Given the description of an element on the screen output the (x, y) to click on. 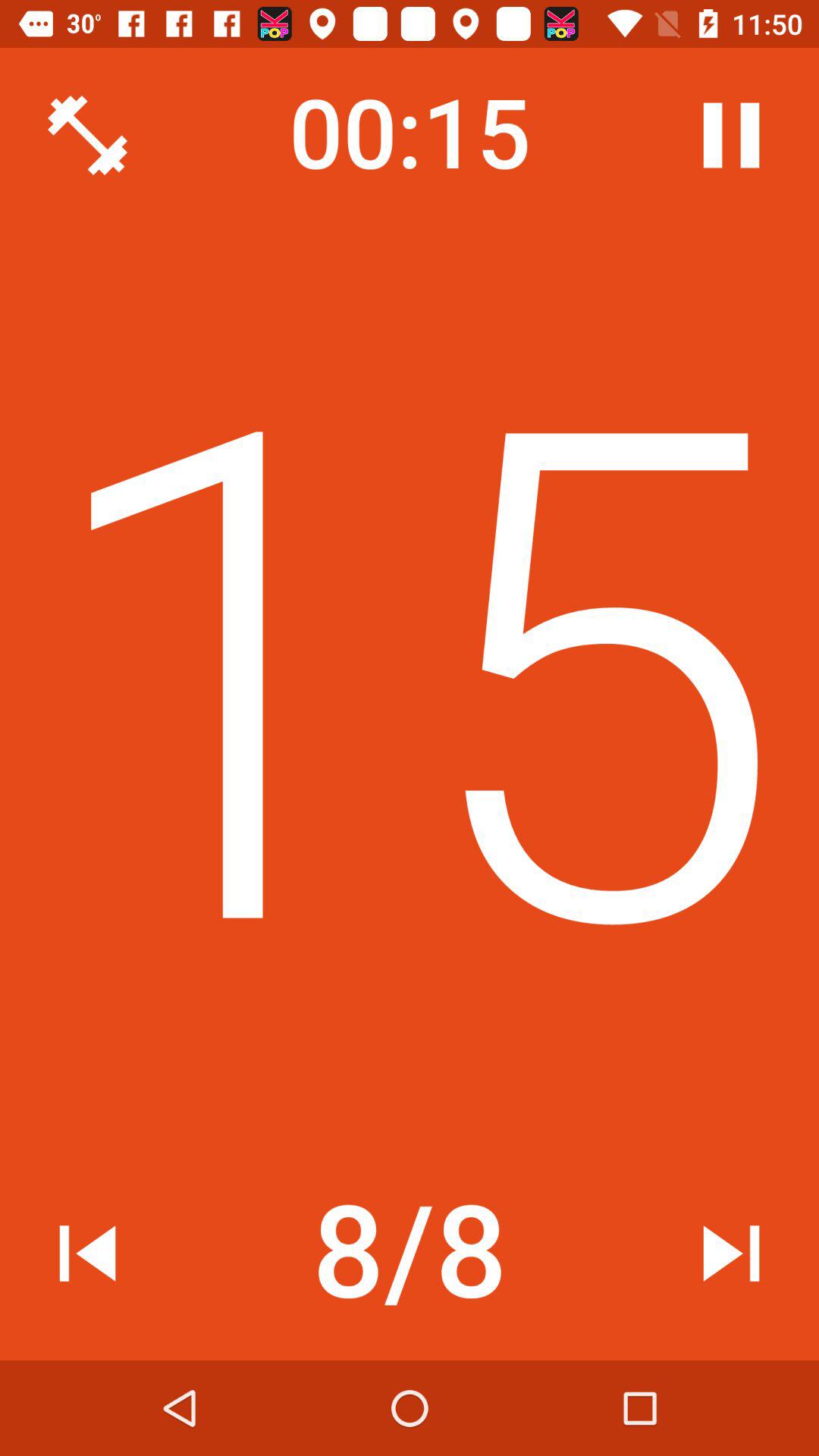
turn on the icon next to 00:14 item (87, 135)
